Given the description of an element on the screen output the (x, y) to click on. 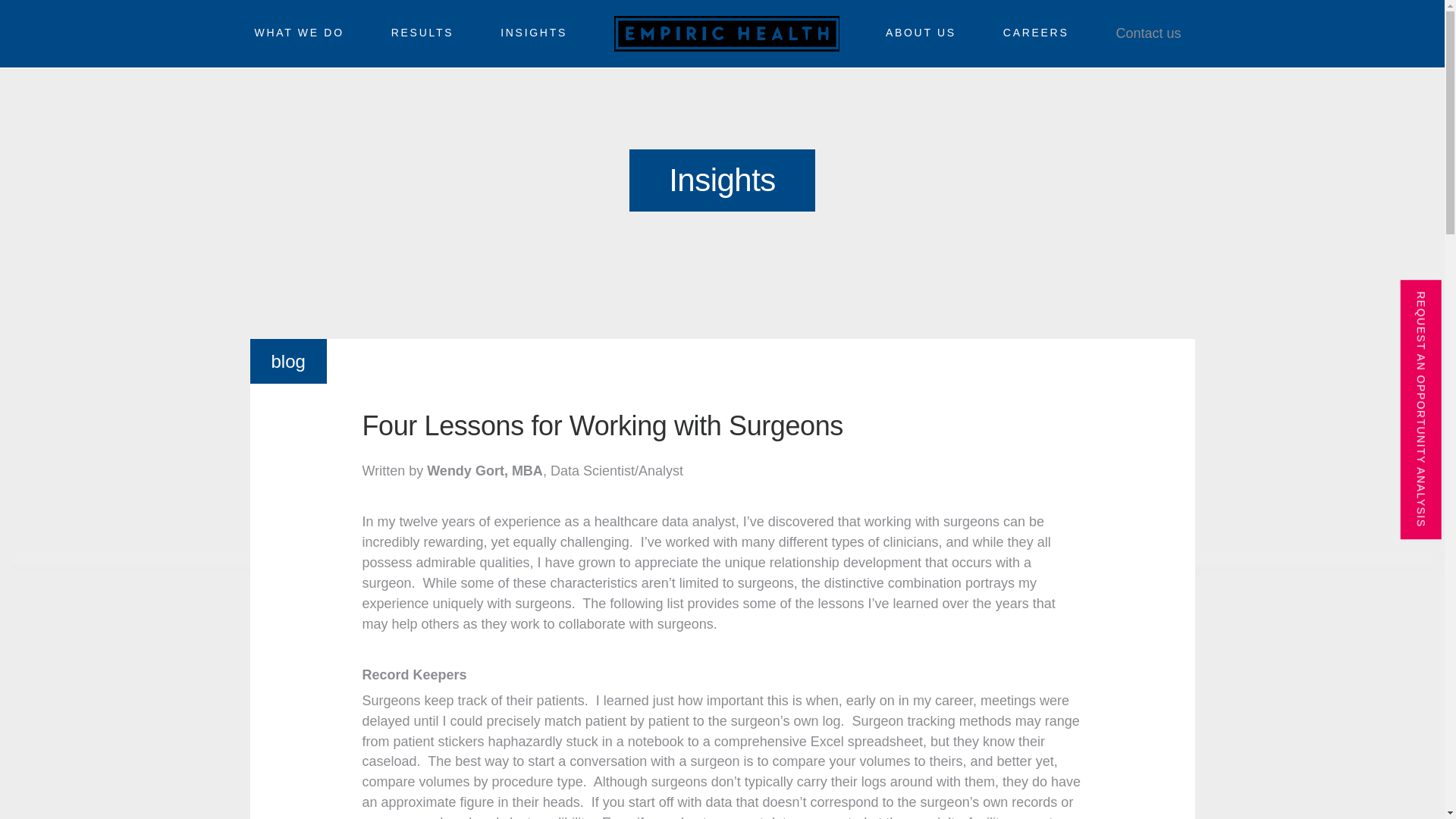
WHAT WE DO (298, 36)
RESULTS (421, 36)
CAREERS (1035, 36)
ABOUT US (920, 36)
INSIGHTS (533, 36)
